Given the description of an element on the screen output the (x, y) to click on. 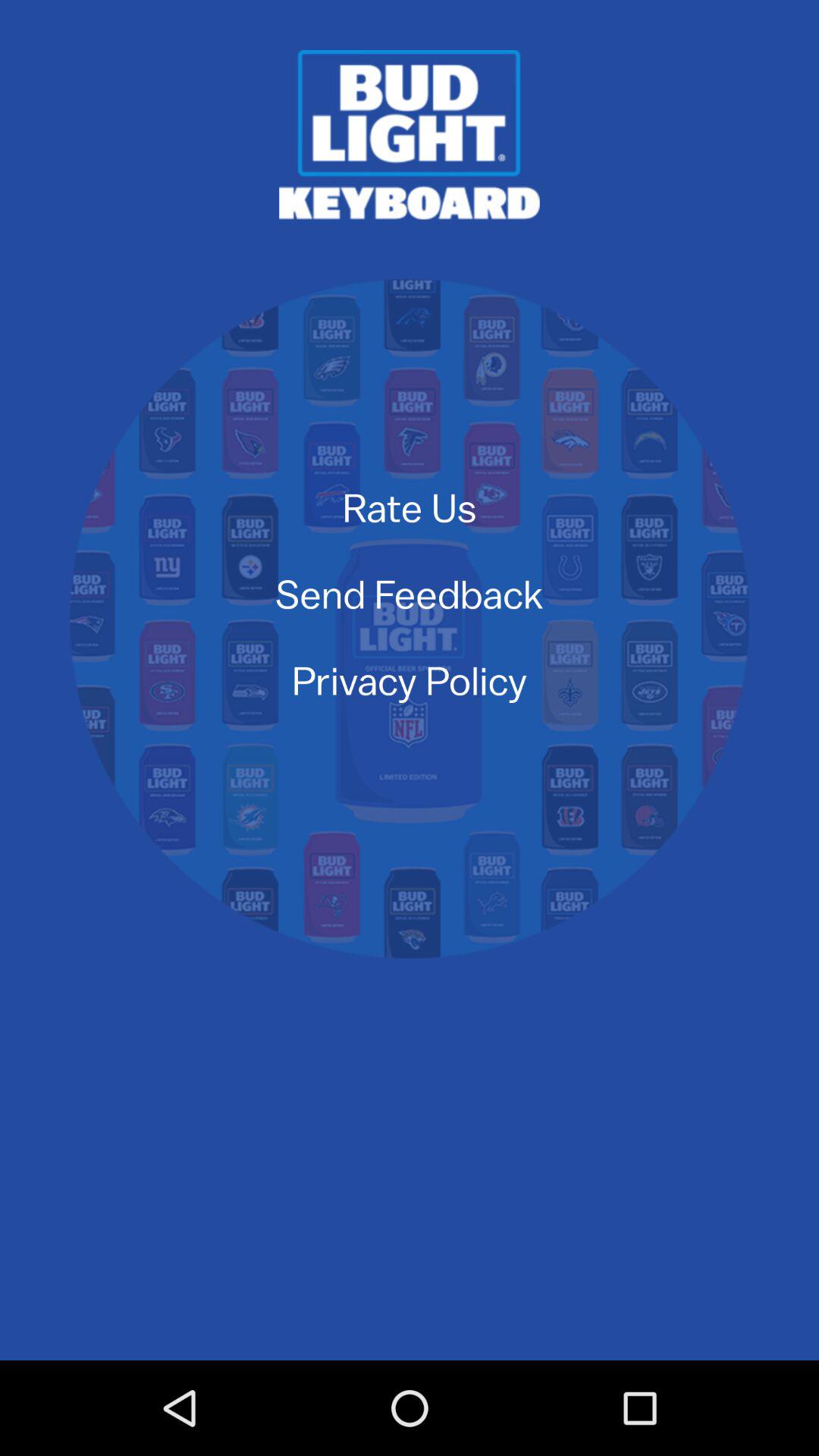
select rate us icon (409, 507)
